Given the description of an element on the screen output the (x, y) to click on. 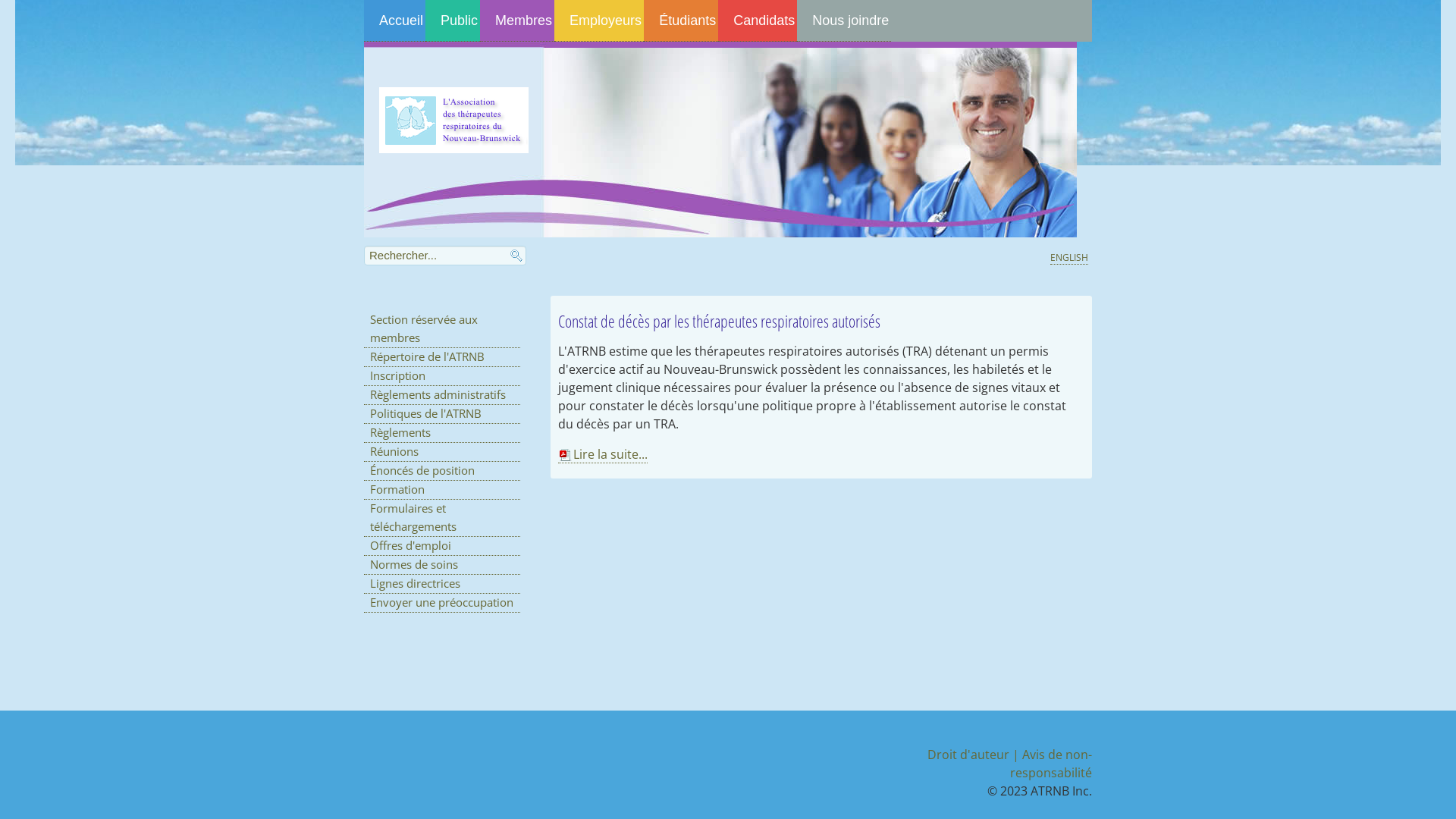
Membres Element type: text (517, 20)
Politiques de l'ATRNB Element type: text (442, 413)
Public Element type: text (452, 20)
Nous joindre Element type: text (844, 20)
Lire la suite... Element type: text (602, 454)
Inscription Element type: text (442, 376)
Lignes directrices Element type: text (442, 583)
Offres d'emploi Element type: text (442, 545)
ENGLISH Element type: text (1069, 257)
Accueil Element type: text (394, 20)
Candidats Element type: text (757, 20)
Normes de soins Element type: text (442, 564)
Formation Element type: text (442, 489)
Employeurs Element type: text (598, 20)
